Given the description of an element on the screen output the (x, y) to click on. 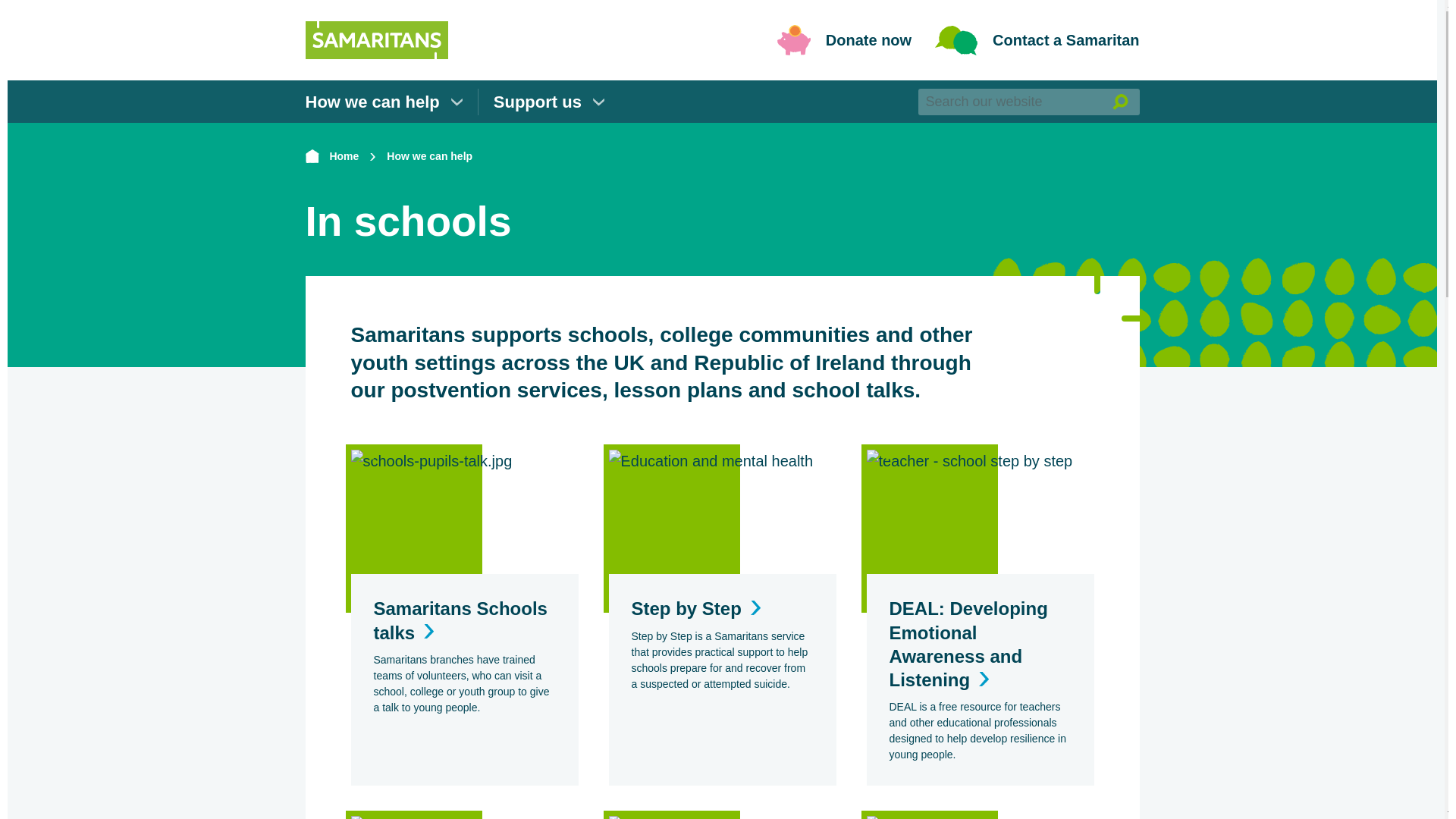
Contact a Samaritan (1036, 40)
How we can help (429, 156)
Home (331, 156)
Support us (548, 100)
How we can help (382, 100)
Samaritans homepage (375, 26)
Samaritans homepage (375, 40)
Search (1119, 100)
Home (331, 156)
Donate now (843, 40)
